Given the description of an element on the screen output the (x, y) to click on. 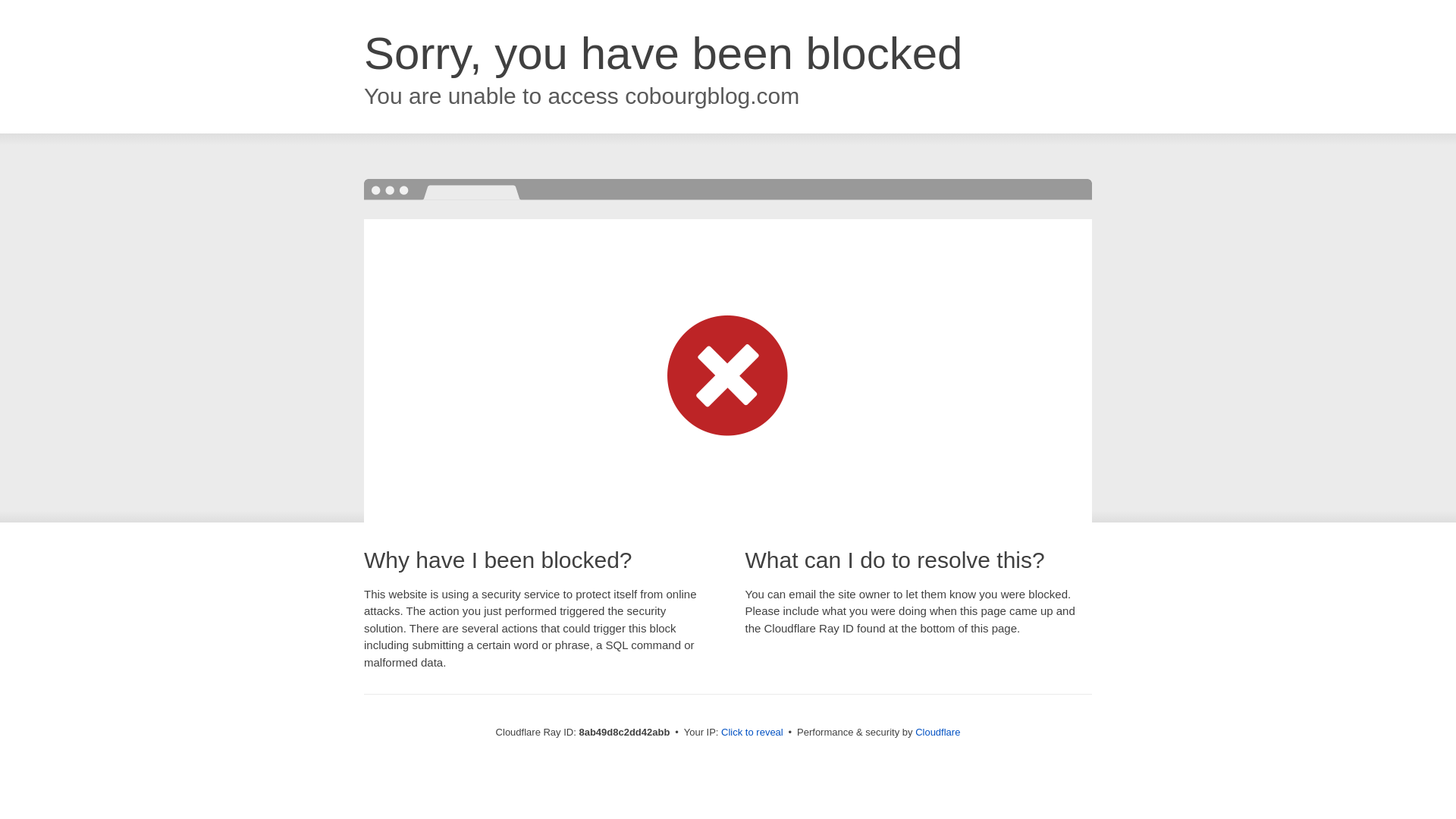
Click to reveal (751, 732)
Cloudflare (937, 731)
